Given the description of an element on the screen output the (x, y) to click on. 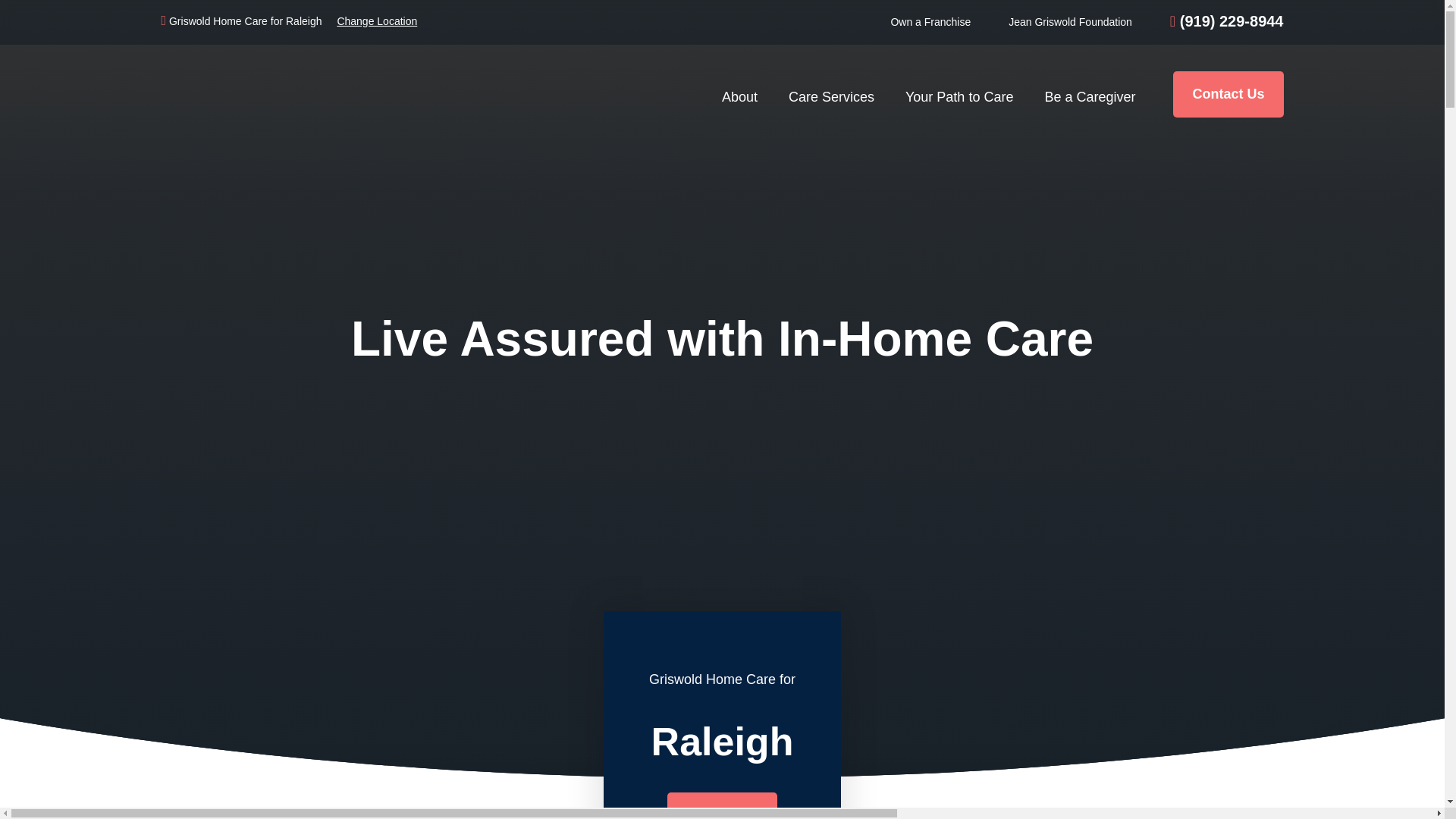
Contact Us (721, 805)
Be a Caregiver (1093, 93)
Jean Griswold Foundation (1070, 21)
Care Services (835, 93)
Change Location (376, 21)
About (743, 93)
Contact Us (1227, 94)
Own a Franchise (930, 21)
Your Path to Care (962, 93)
